Given the description of an element on the screen output the (x, y) to click on. 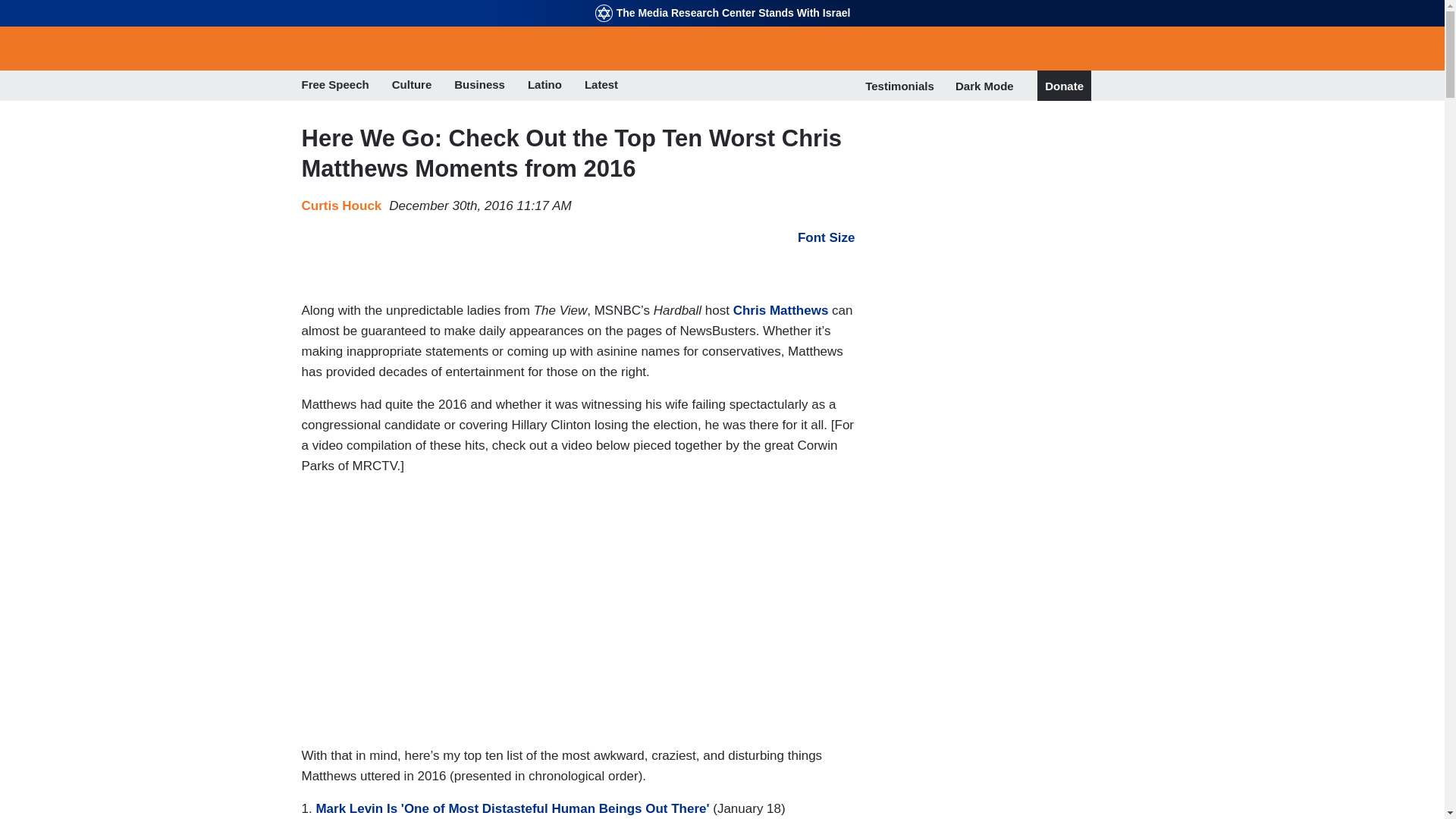
Business (479, 85)
Donate (1064, 86)
Latest (601, 85)
Culture (411, 85)
Free Speech (335, 85)
Dark Mode (984, 85)
Skip to main content (721, 1)
Testimonials (899, 85)
Latino (544, 85)
